Given the description of an element on the screen output the (x, y) to click on. 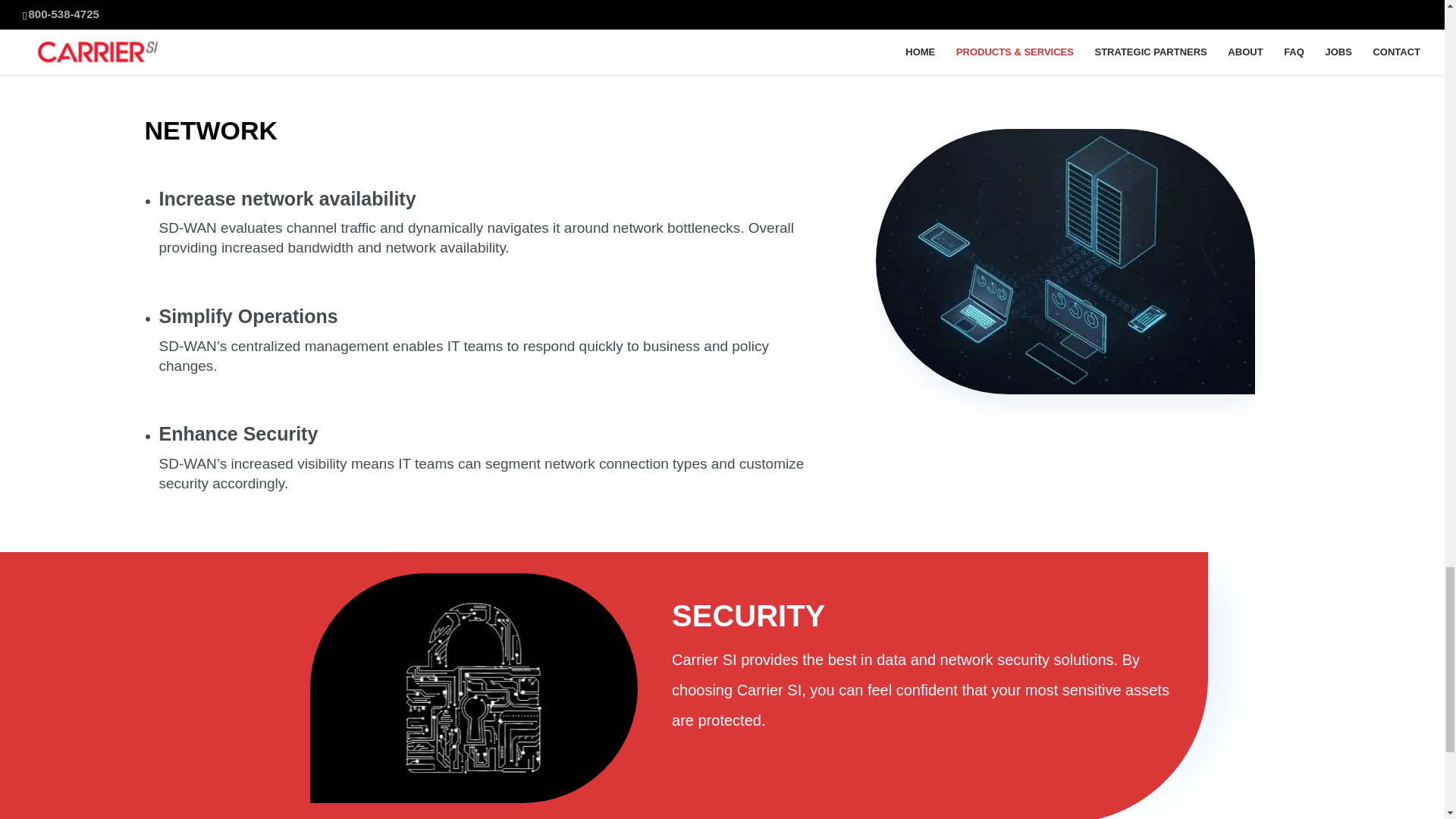
Network (1065, 260)
Contact Center (403, 6)
